Given the description of an element on the screen output the (x, y) to click on. 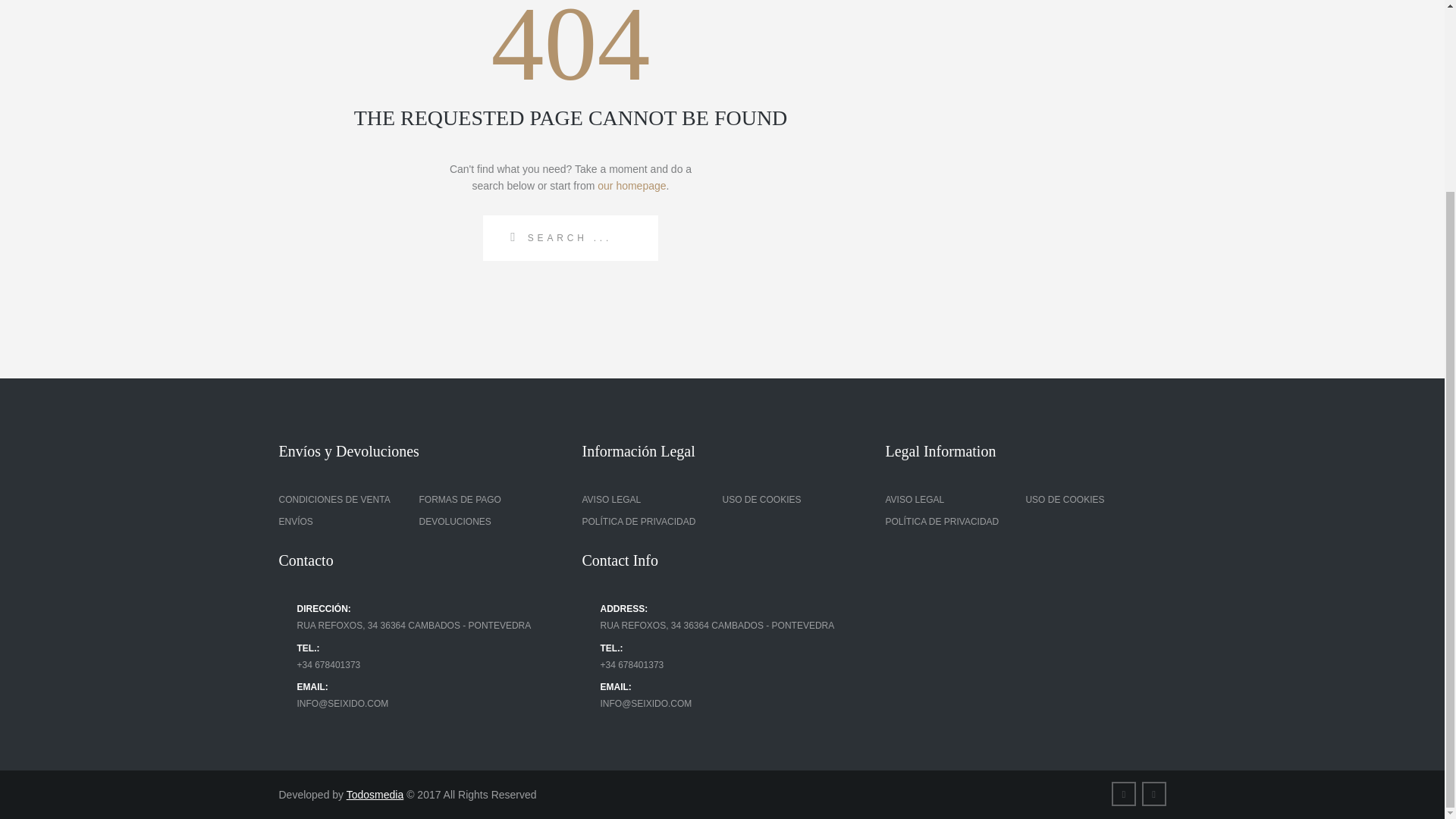
AVISO LEGAL (610, 499)
USO DE COOKIES (761, 499)
FORMAS DE PAGO (459, 499)
DEVOLUCIONES (454, 521)
CONDICIONES DE VENTA (334, 499)
Start search (505, 237)
our homepage (630, 185)
